Given the description of an element on the screen output the (x, y) to click on. 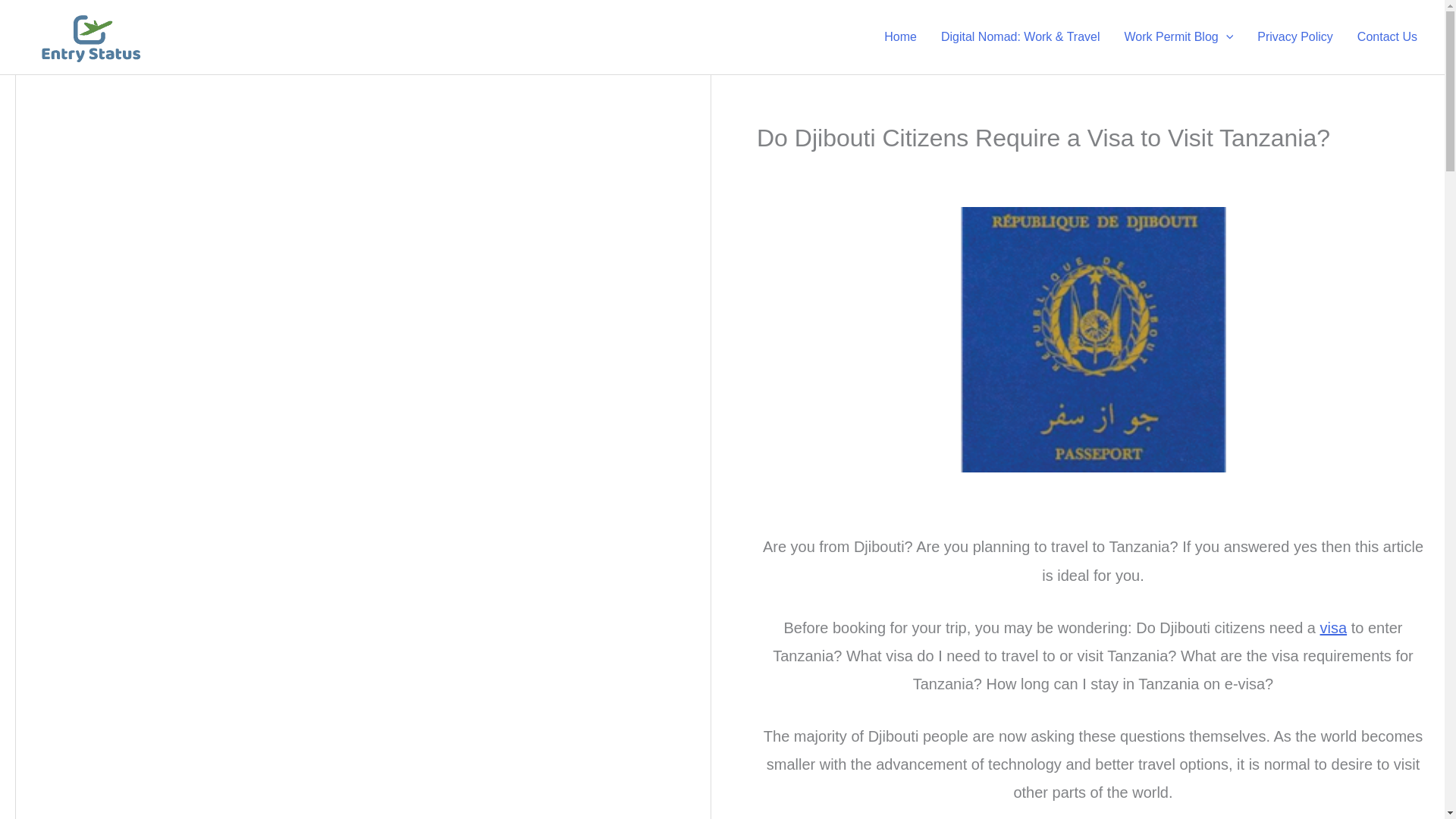
Privacy Policy (1294, 36)
Work Permit Blog (1178, 36)
Home (900, 36)
visa (1334, 627)
Contact Us (1387, 36)
